Given the description of an element on the screen output the (x, y) to click on. 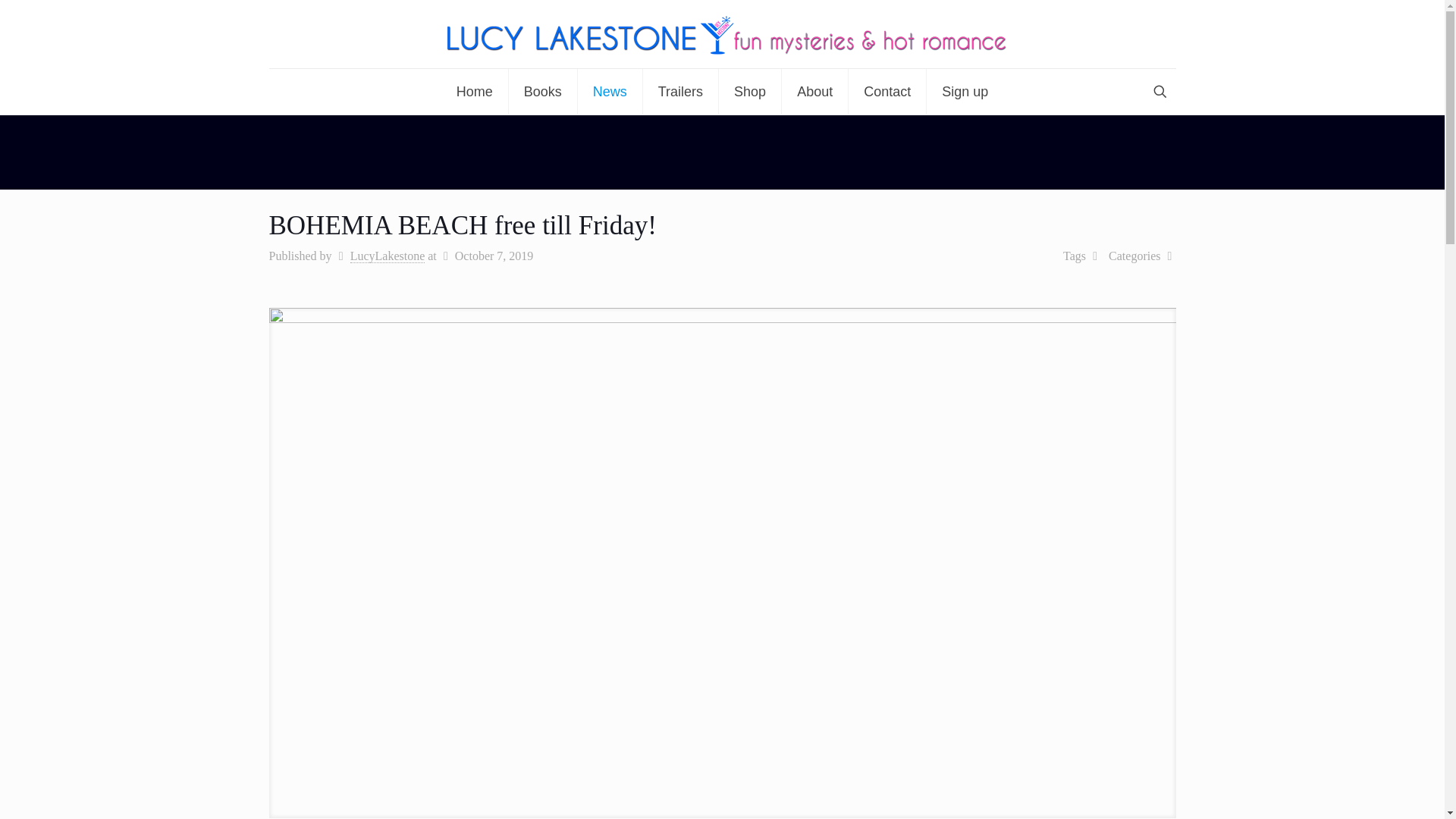
Shop (750, 91)
Home (474, 91)
Lucy Lakestone (722, 33)
LucyLakestone (387, 255)
News (610, 91)
About (814, 91)
Trailers (681, 91)
Contact (887, 91)
Books (543, 91)
Sign up (964, 91)
